Given the description of an element on the screen output the (x, y) to click on. 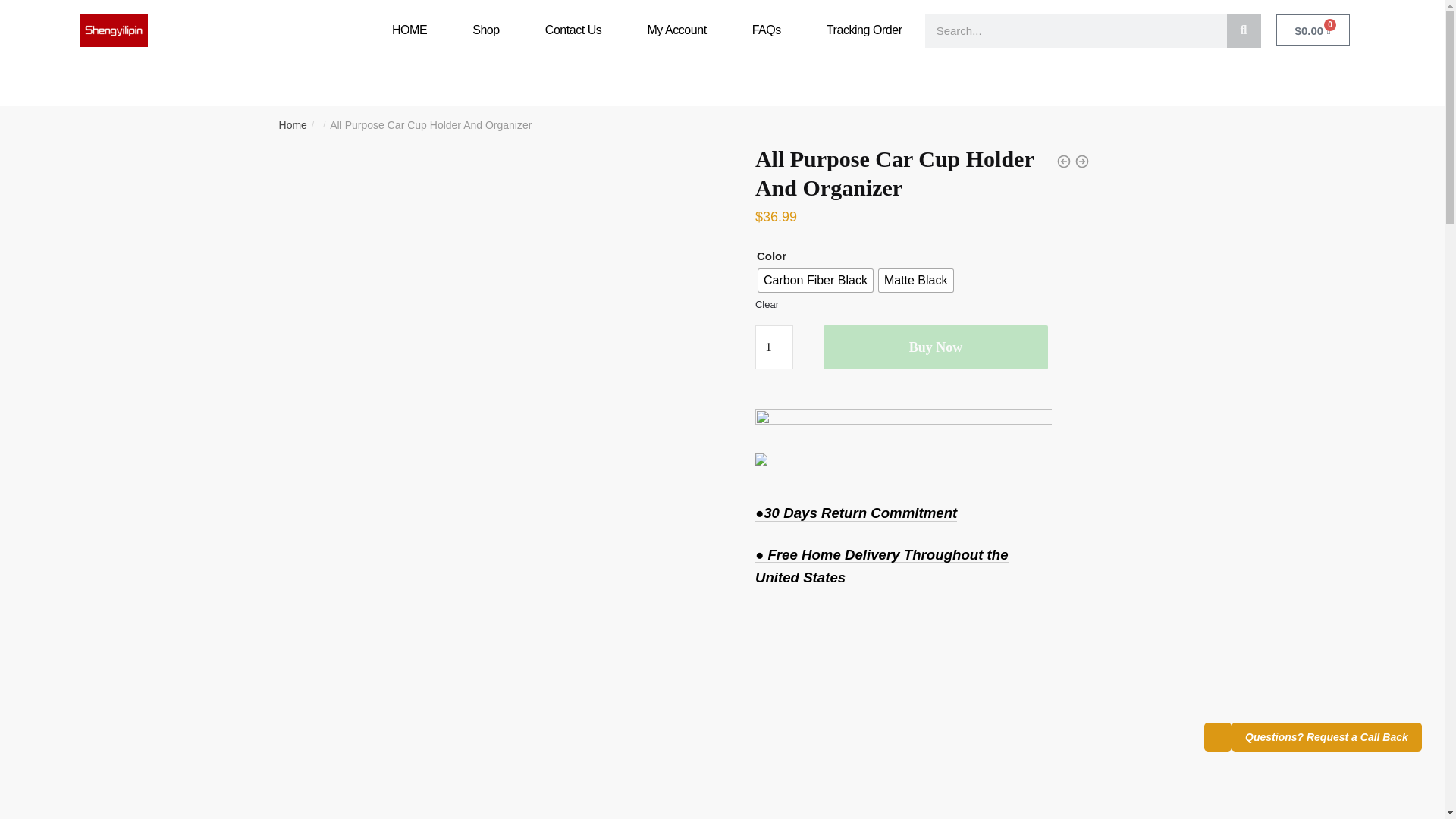
Matte Black (916, 280)
Clear (766, 304)
FAQs (766, 30)
Carbon Fiber Black (815, 280)
Shop (485, 30)
Buy Now (936, 347)
Home (293, 124)
My Account (676, 30)
HOME (408, 30)
Tracking Order (864, 30)
